Given the description of an element on the screen output the (x, y) to click on. 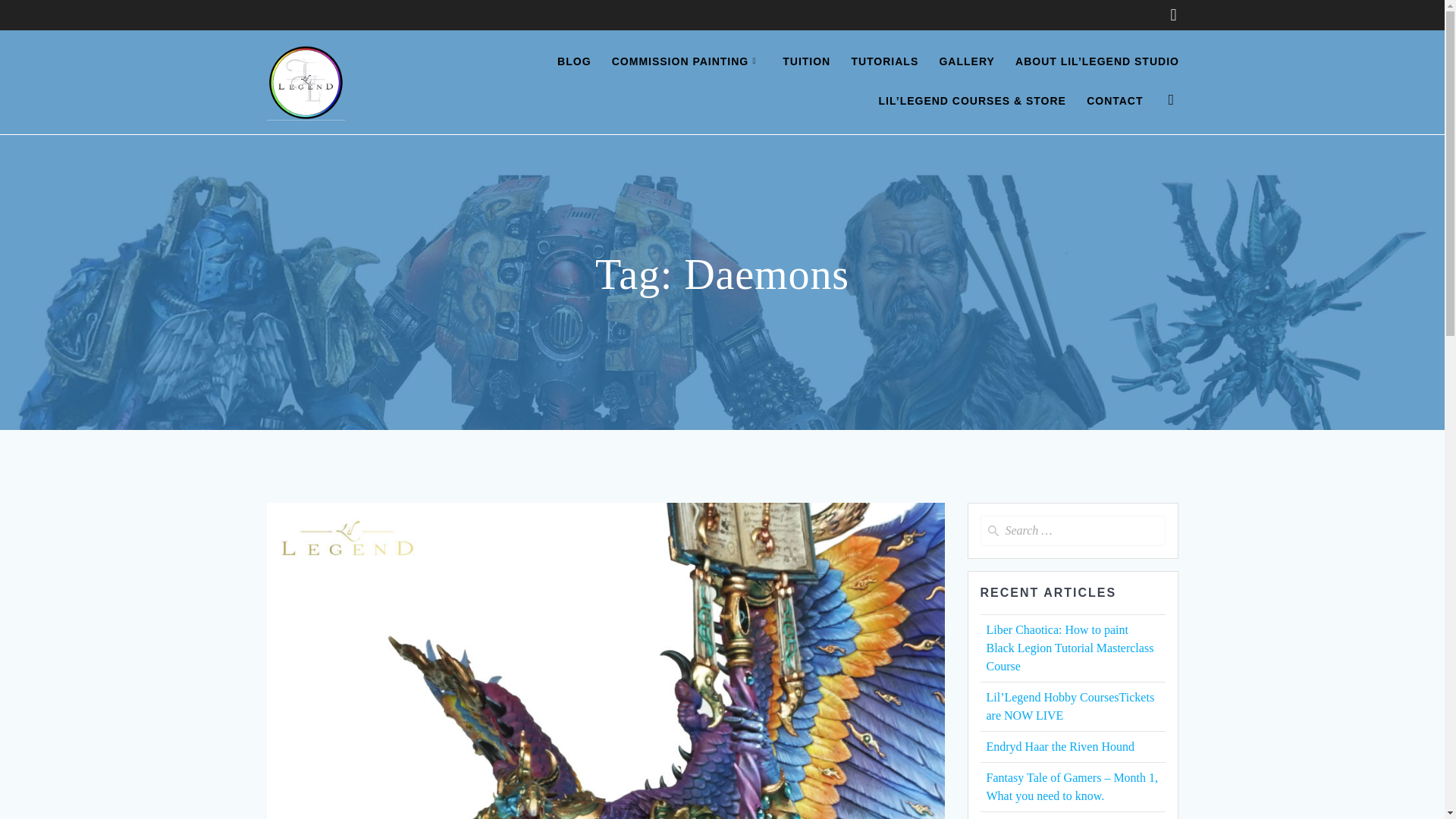
COMMISSION PAINTING (686, 62)
GALLERY (966, 62)
BLOG (574, 62)
TUITION (806, 62)
TUTORIALS (884, 62)
CONTACT (1114, 101)
Endryd Haar the Riven Hound (1059, 746)
